Given the description of an element on the screen output the (x, y) to click on. 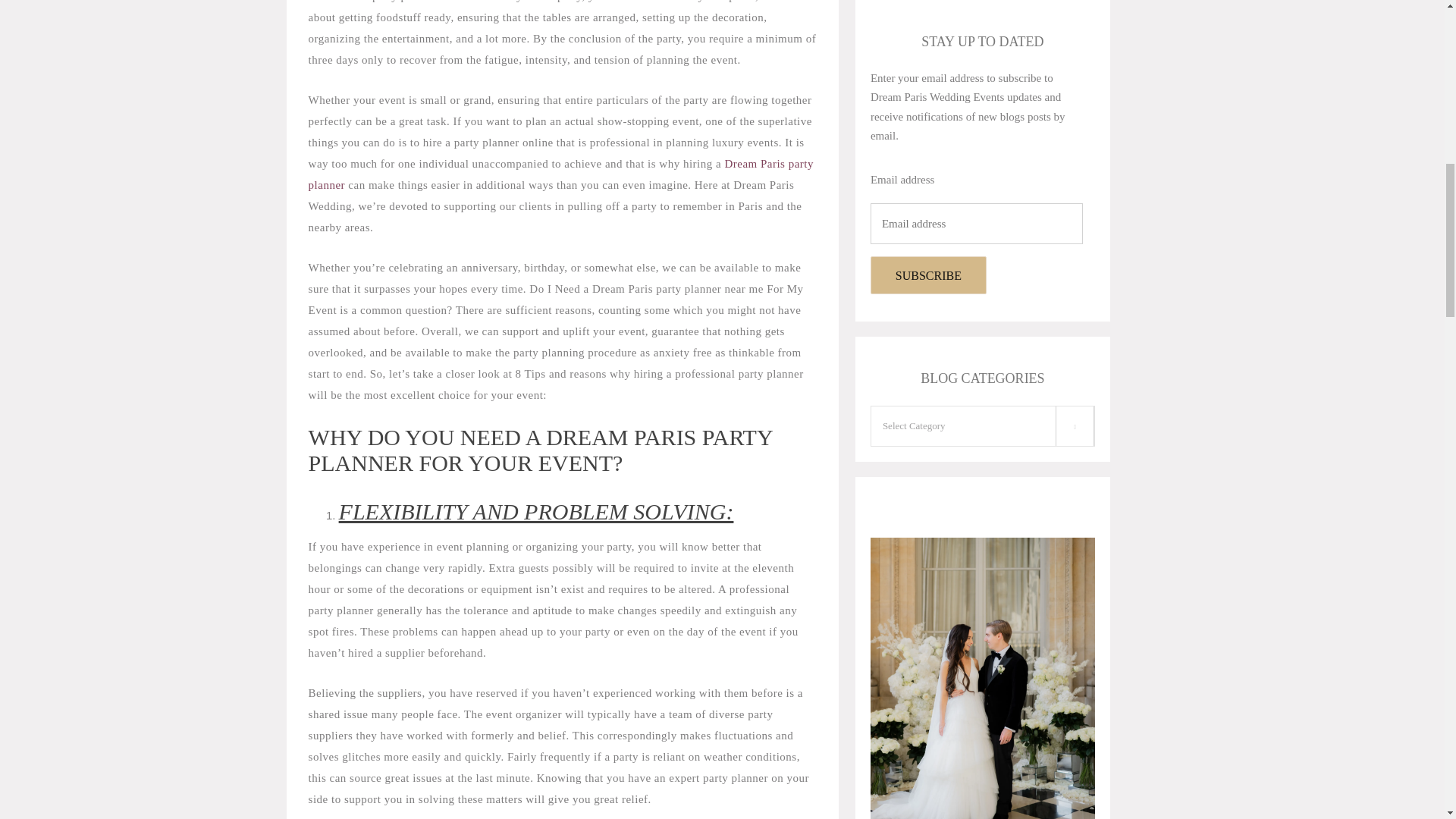
Subscribe (928, 275)
Subscribe (928, 275)
Dream Paris party planner (560, 174)
